Given the description of an element on the screen output the (x, y) to click on. 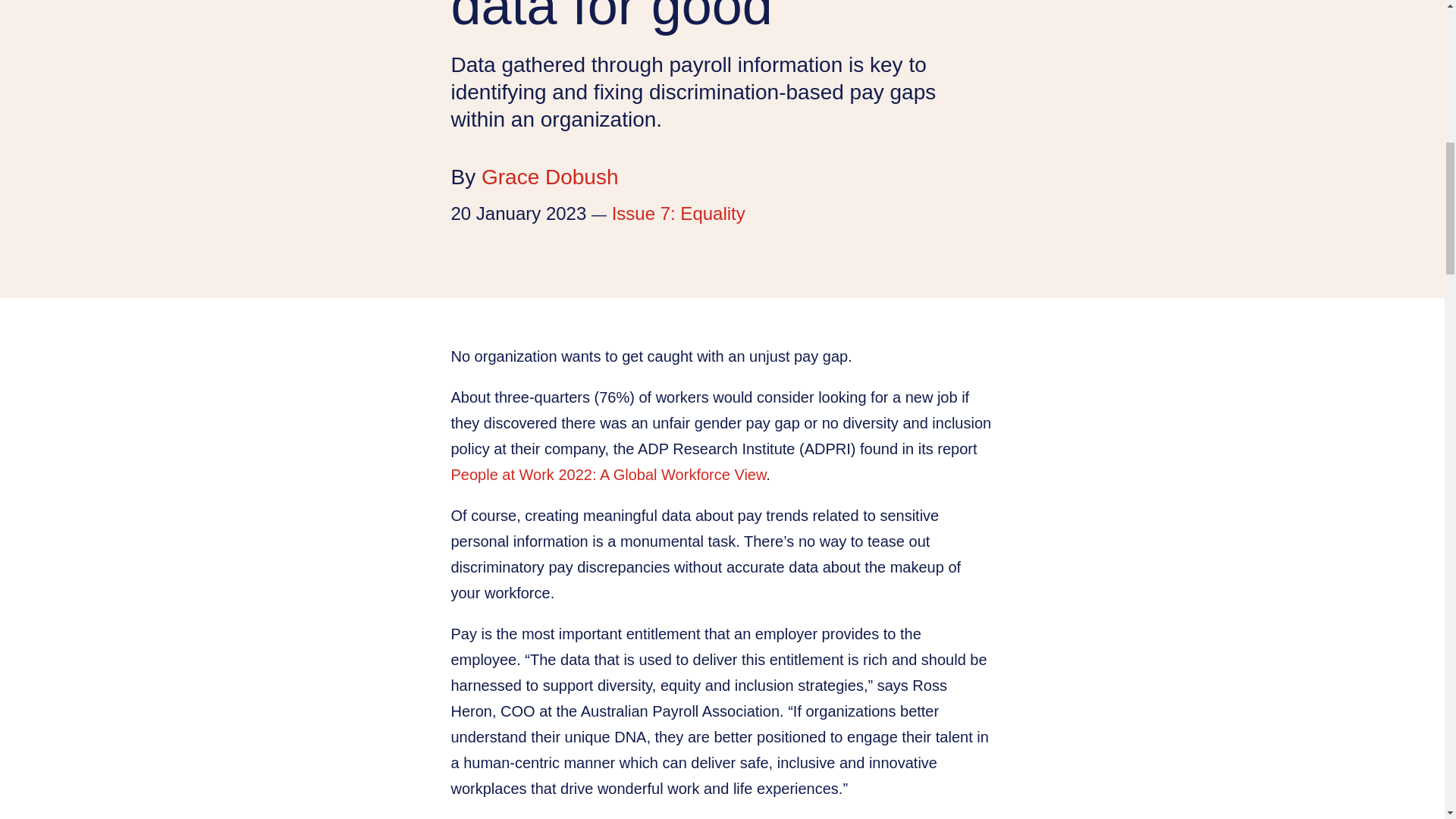
Issue 7: Equality (678, 213)
People at Work 2022: A Global Workforce View (607, 474)
Grace Dobush (549, 177)
